Given the description of an element on the screen output the (x, y) to click on. 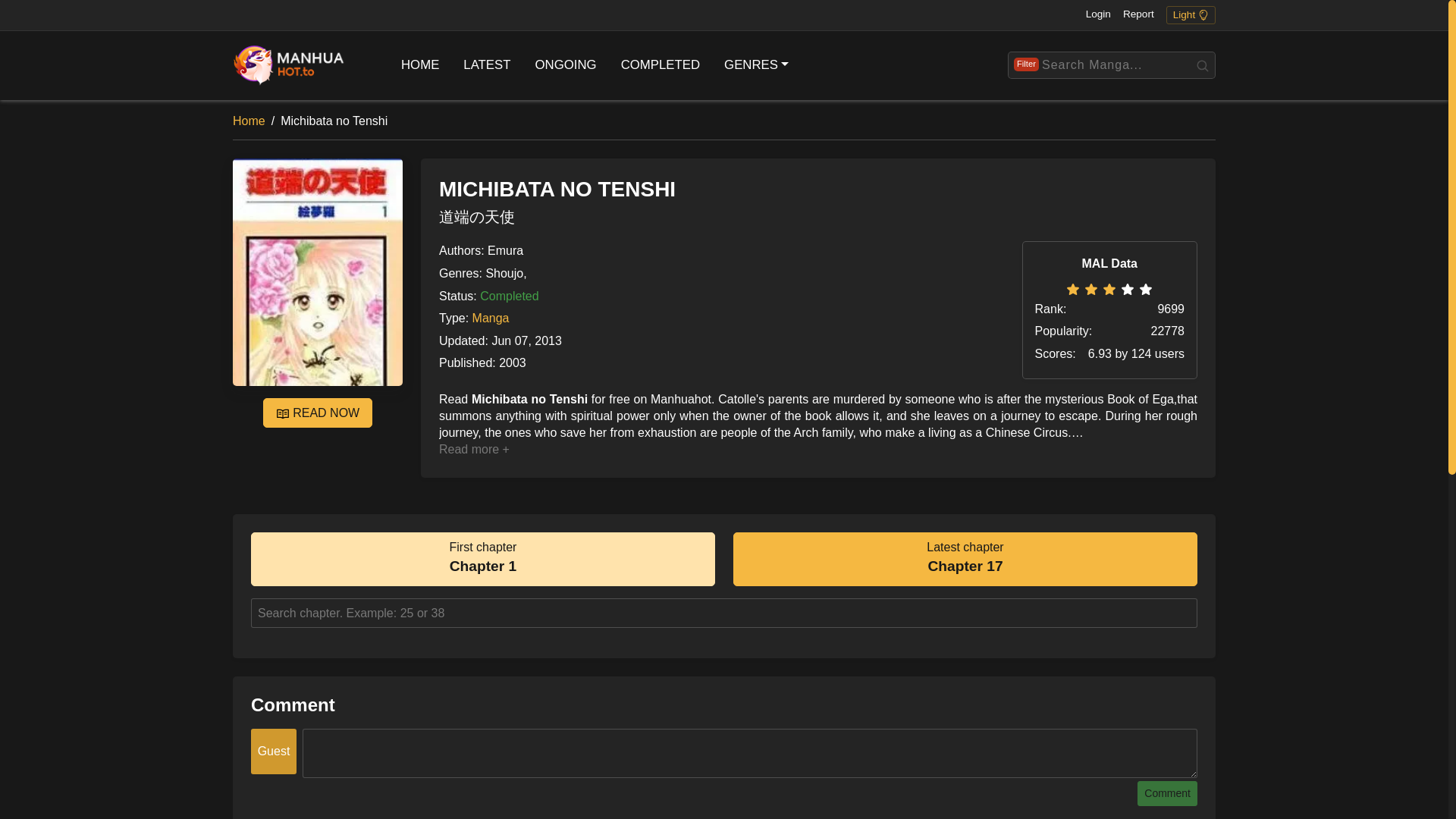
Completed (660, 65)
LATEST (486, 65)
Change theme color (1190, 14)
Home (248, 120)
Manhuahot (289, 63)
Login (1098, 14)
Comment (1166, 793)
Manhuahot (482, 559)
ONGOING (419, 65)
